Given the description of an element on the screen output the (x, y) to click on. 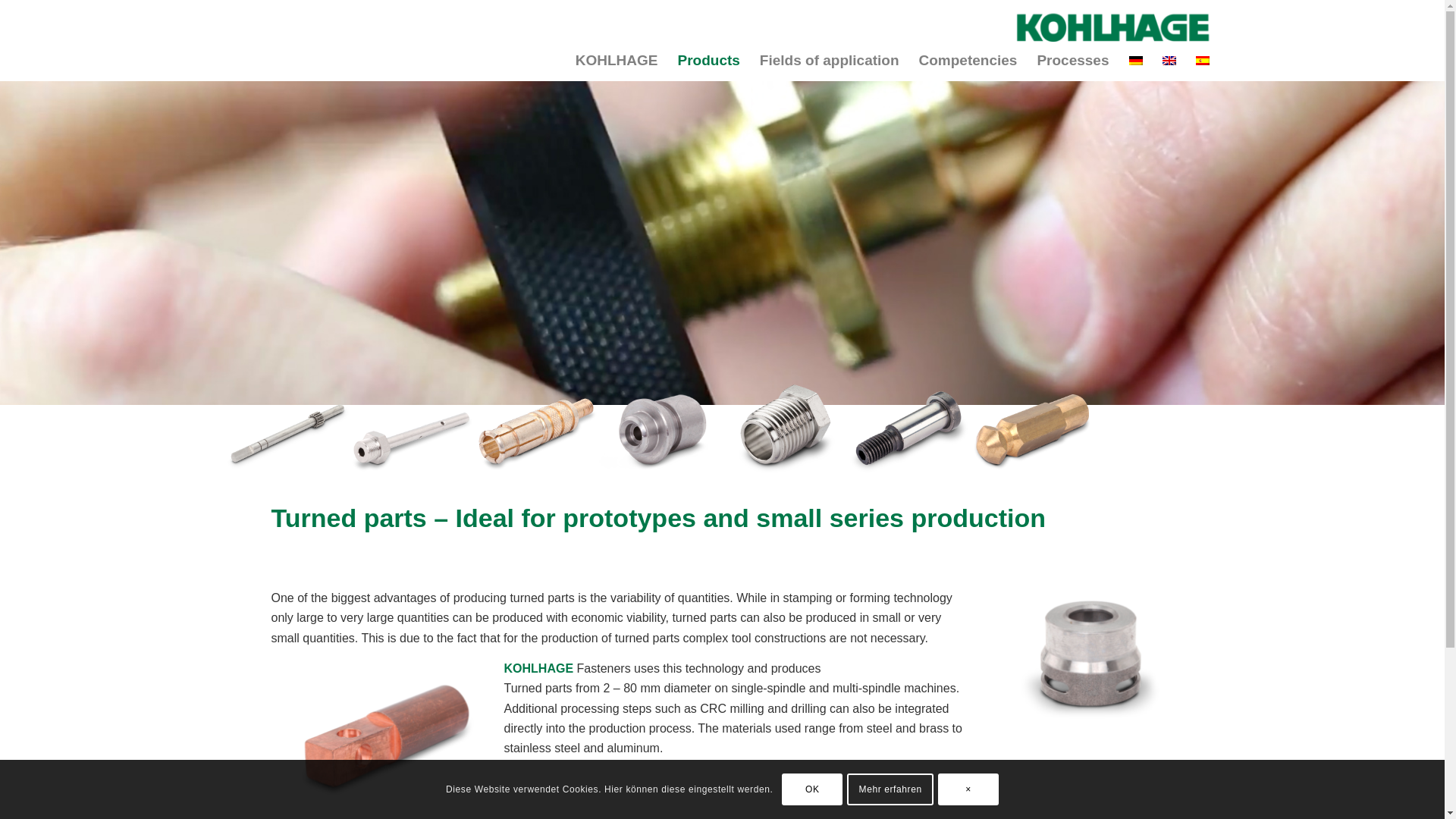
Fields of application (828, 60)
KOHLHAGE (617, 60)
Products (707, 60)
